Given the description of an element on the screen output the (x, y) to click on. 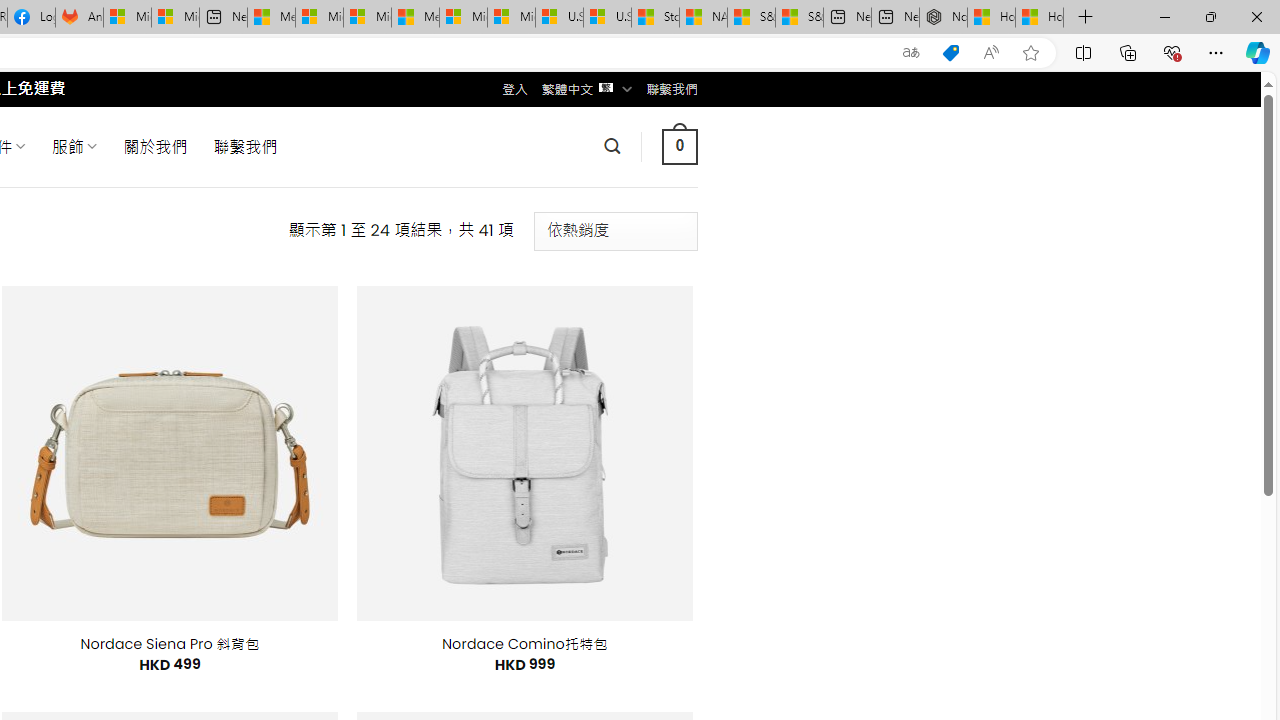
How to Use a Monitor With Your Closed Laptop (1039, 17)
